Given the description of an element on the screen output the (x, y) to click on. 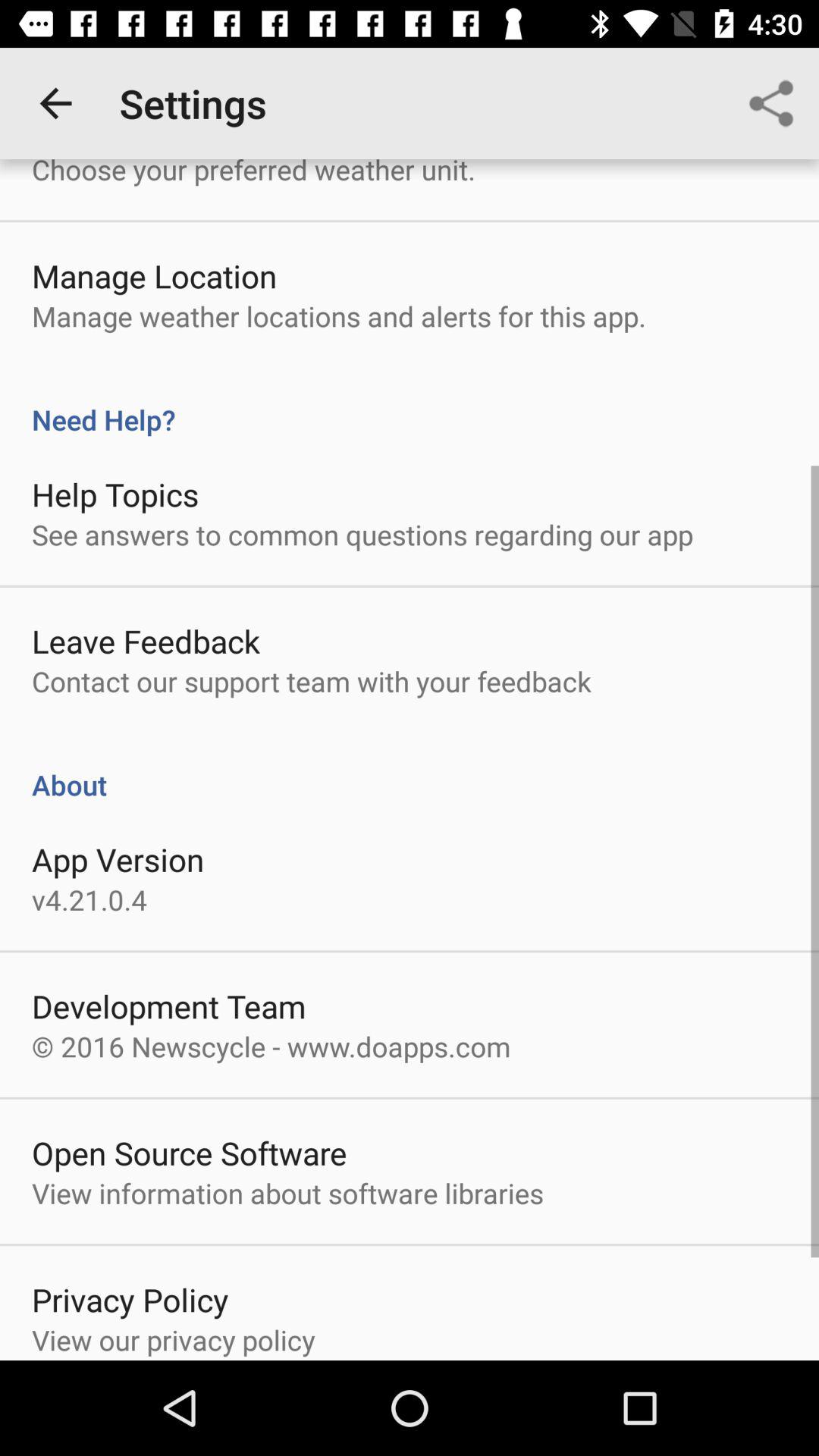
select the item below the privacy policy icon (173, 1339)
